Given the description of an element on the screen output the (x, y) to click on. 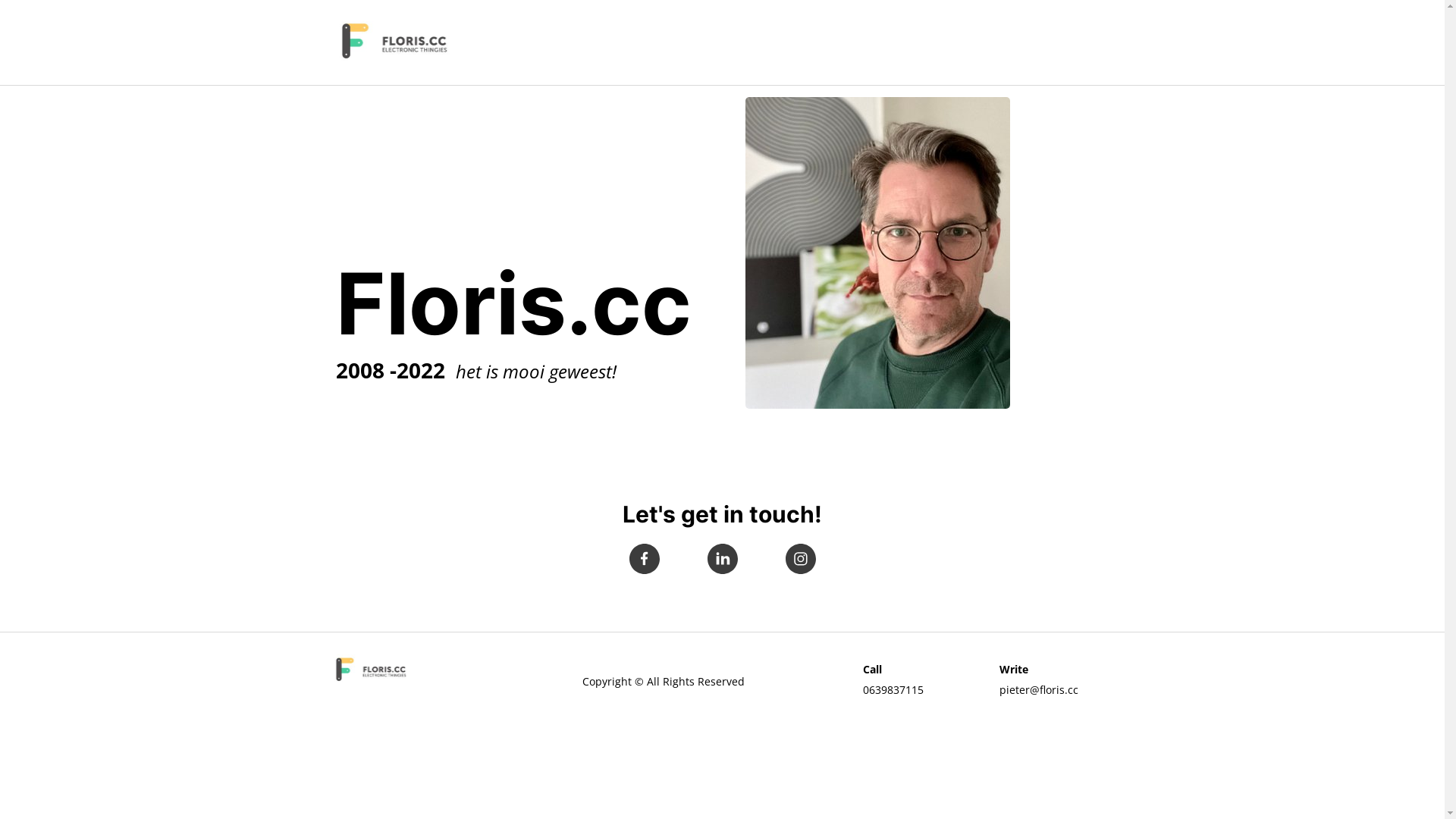
pieter@floris.cc Element type: text (1038, 689)
0639837115 Element type: text (892, 689)
